Given the description of an element on the screen output the (x, y) to click on. 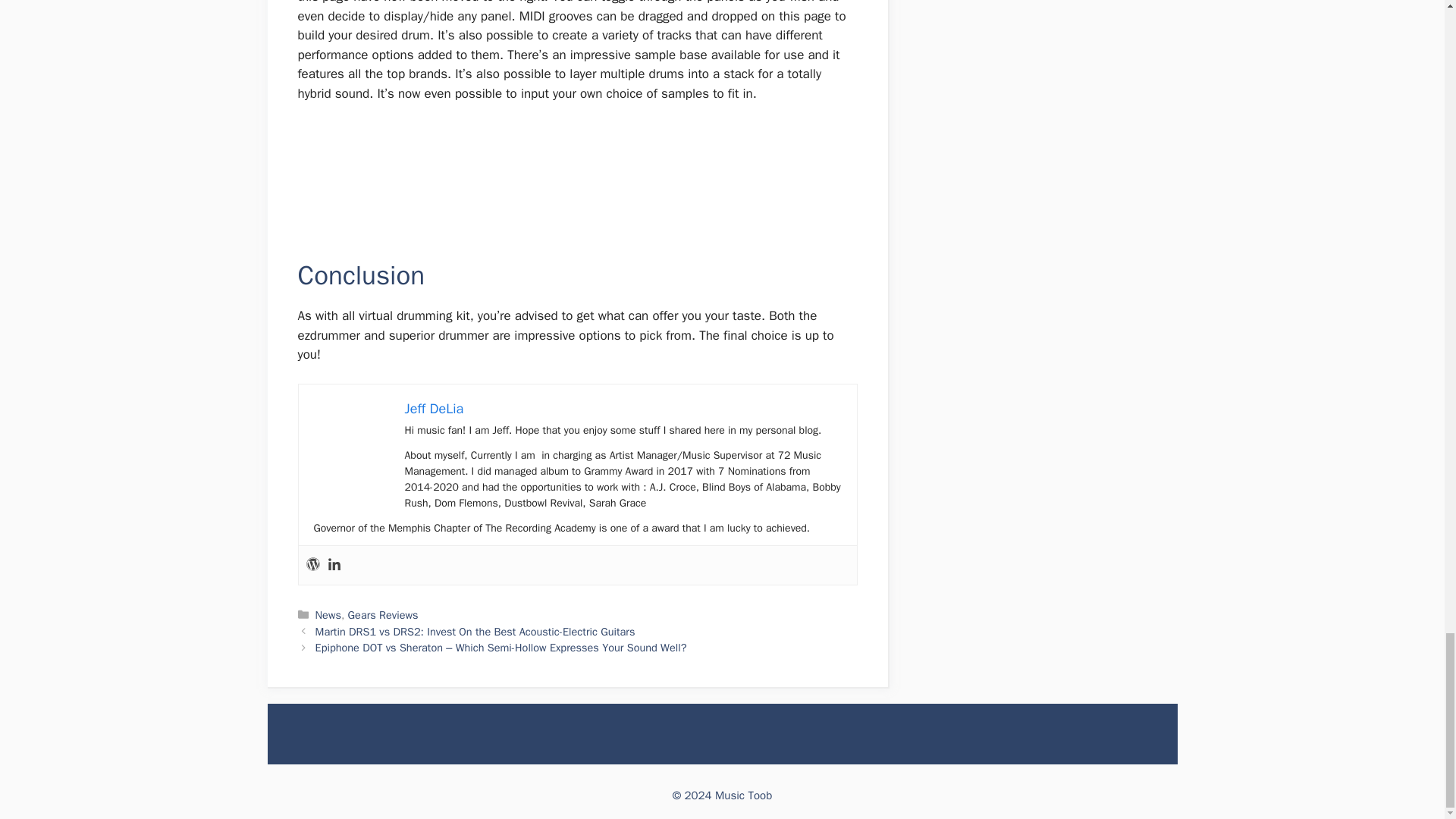
Previous (474, 631)
Jeff DeLia (434, 408)
Gears Reviews (383, 614)
Next (501, 647)
News (327, 614)
